Given the description of an element on the screen output the (x, y) to click on. 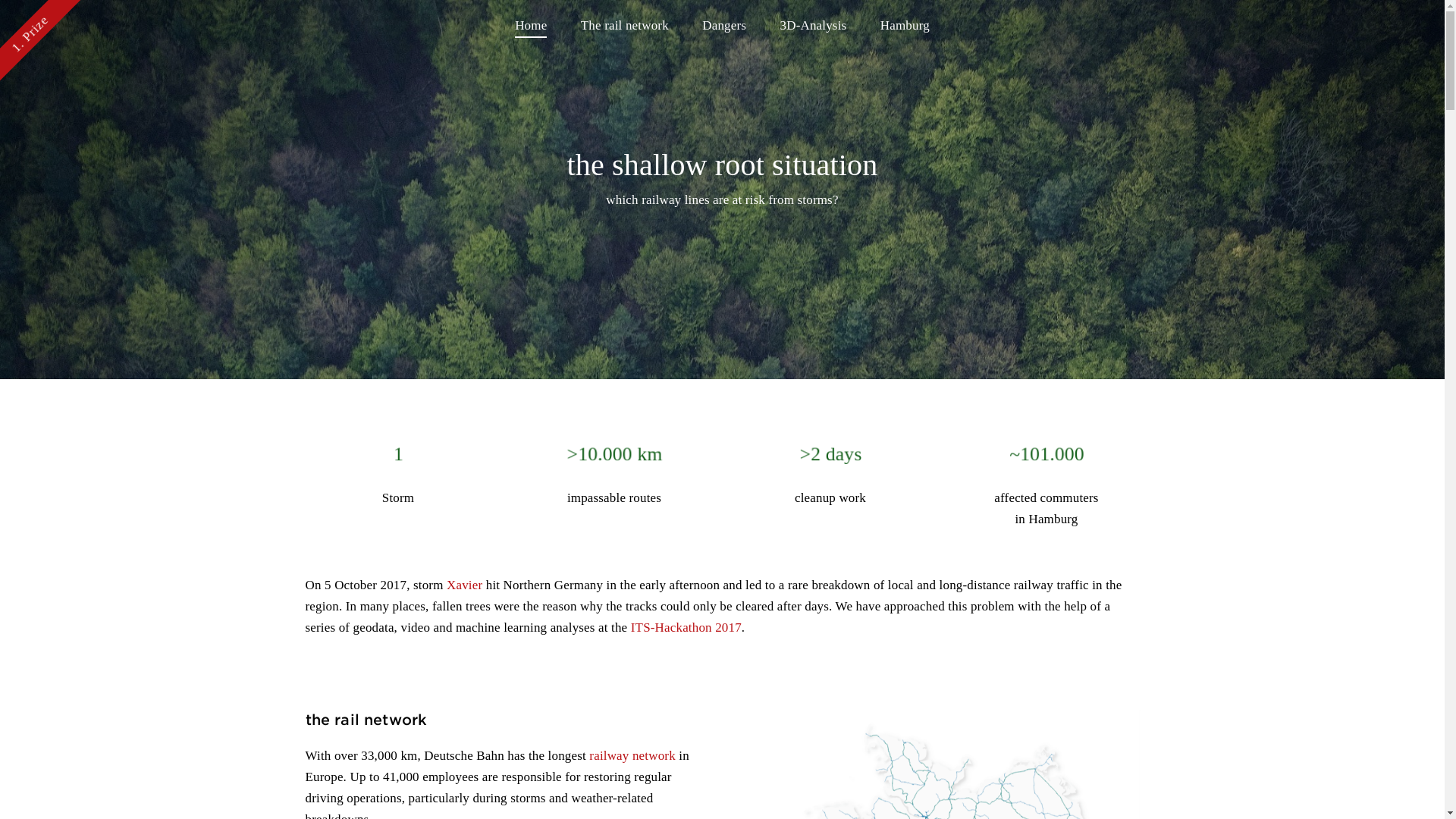
Home (530, 26)
Dangers (724, 26)
Xavier (463, 585)
civity Management Consultants (914, 625)
The rail network (625, 26)
Impressum (753, 793)
1. Prize (31, 20)
Unsplash (695, 793)
Privacy Policy (821, 793)
ITS-Hackathon 2017 (553, 615)
3D-Analysis (813, 26)
ITS-Hackathon 2017 (685, 626)
mail (380, 692)
railway network (632, 755)
Hamburg (904, 26)
